Given the description of an element on the screen output the (x, y) to click on. 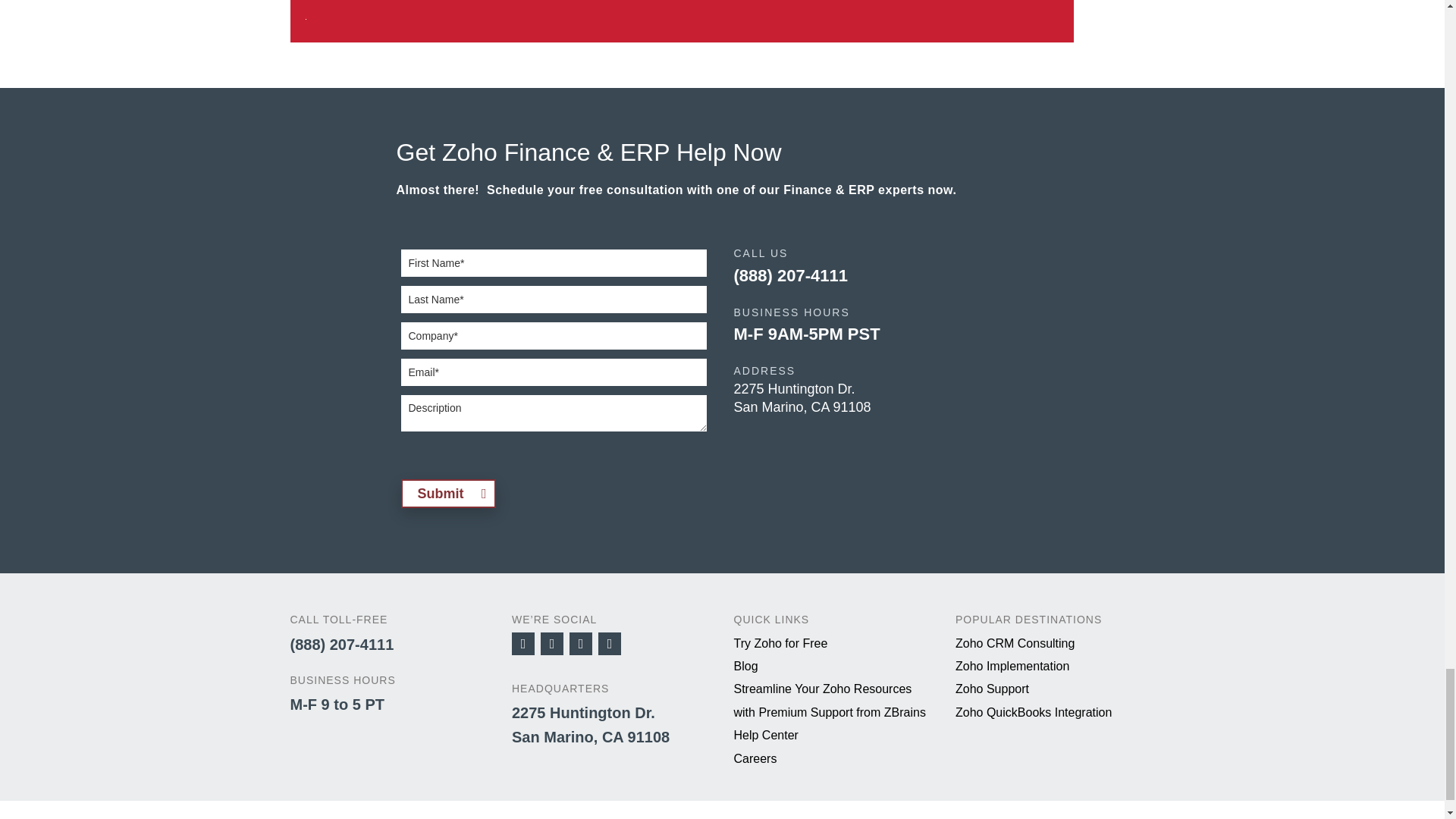
Submit (447, 493)
twitter (551, 643)
youtube (580, 643)
Submit (447, 493)
linkedin (609, 643)
facebook (523, 643)
